Given the description of an element on the screen output the (x, y) to click on. 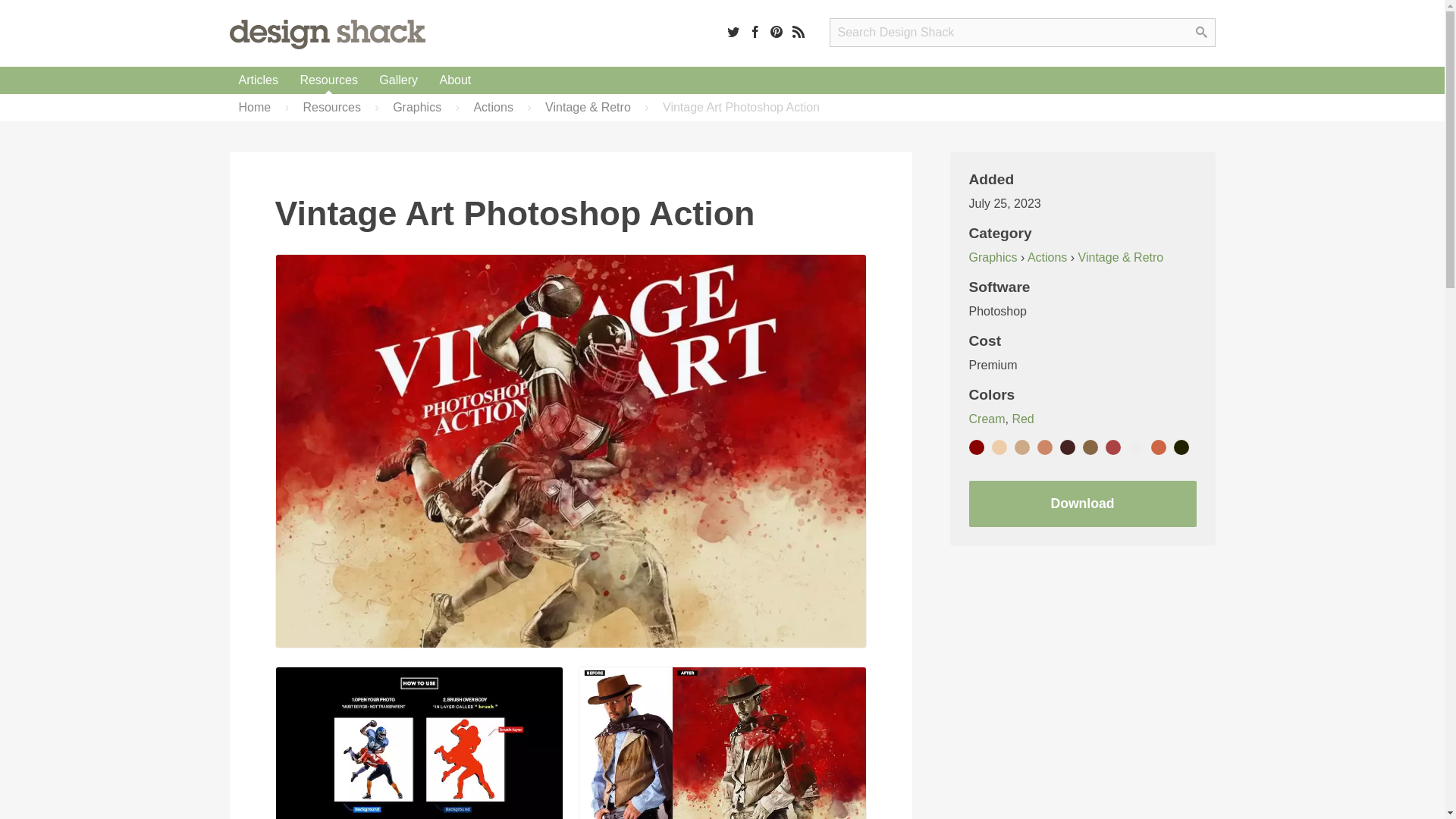
Articles (257, 80)
RSS Feed (797, 31)
Search Design Shack (1022, 32)
Search Design Shack (1022, 32)
Articles (257, 80)
Facebook (755, 31)
Design Shack (326, 34)
Pinterest (776, 31)
